Given the description of an element on the screen output the (x, y) to click on. 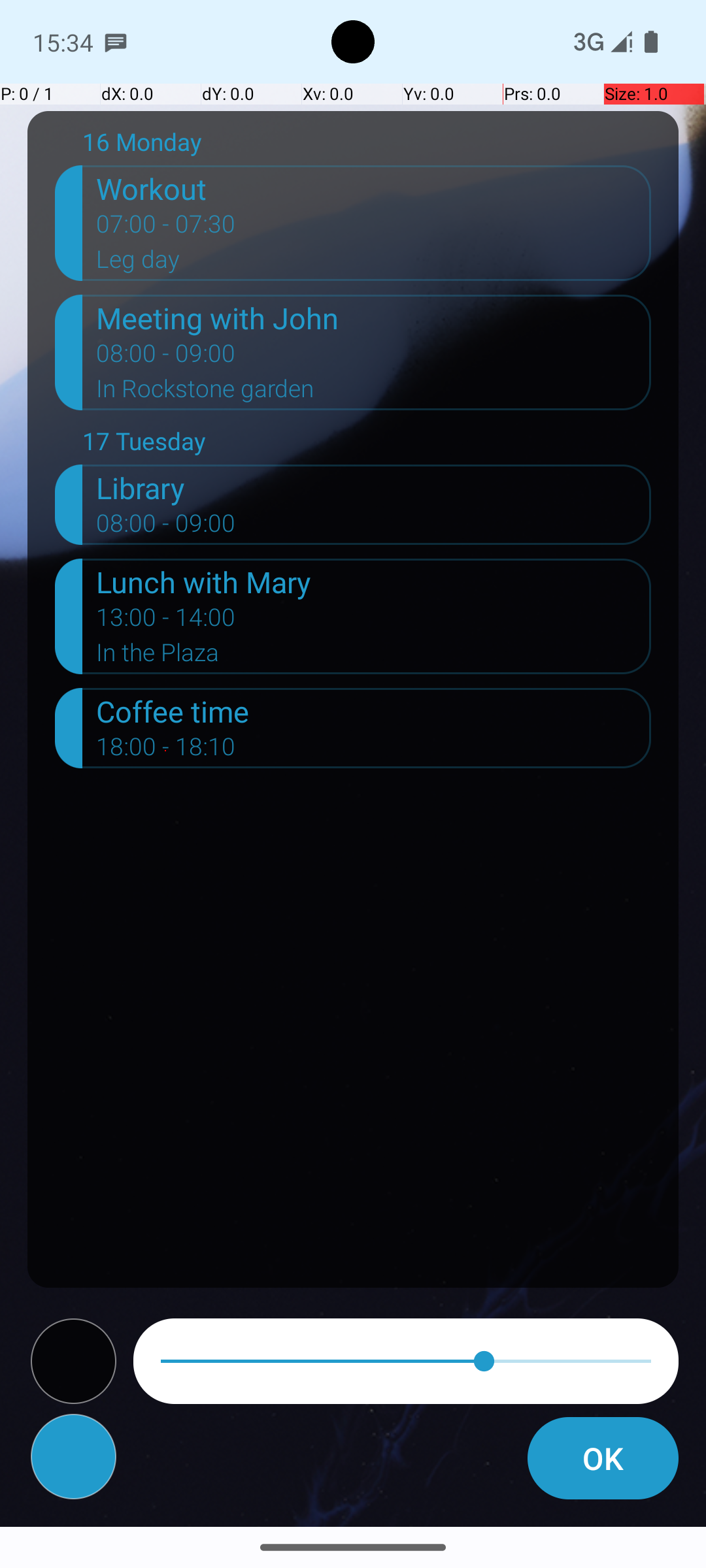
16 Monday Element type: android.widget.TextView (366, 144)
17 Tuesday Element type: android.widget.TextView (366, 444)
Workout Element type: android.widget.TextView (373, 187)
07:00 - 07:30 Element type: android.widget.TextView (165, 227)
Leg day Element type: android.widget.TextView (373, 262)
Meeting with John Element type: android.widget.TextView (373, 316)
08:00 - 09:00 Element type: android.widget.TextView (165, 357)
In Rockstone garden Element type: android.widget.TextView (373, 392)
Library Element type: android.widget.TextView (373, 486)
Lunch with Mary Element type: android.widget.TextView (373, 580)
13:00 - 14:00 Element type: android.widget.TextView (165, 620)
In the Plaza Element type: android.widget.TextView (373, 656)
Coffee time Element type: android.widget.TextView (373, 710)
18:00 - 18:10 Element type: android.widget.TextView (165, 750)
